Given the description of an element on the screen output the (x, y) to click on. 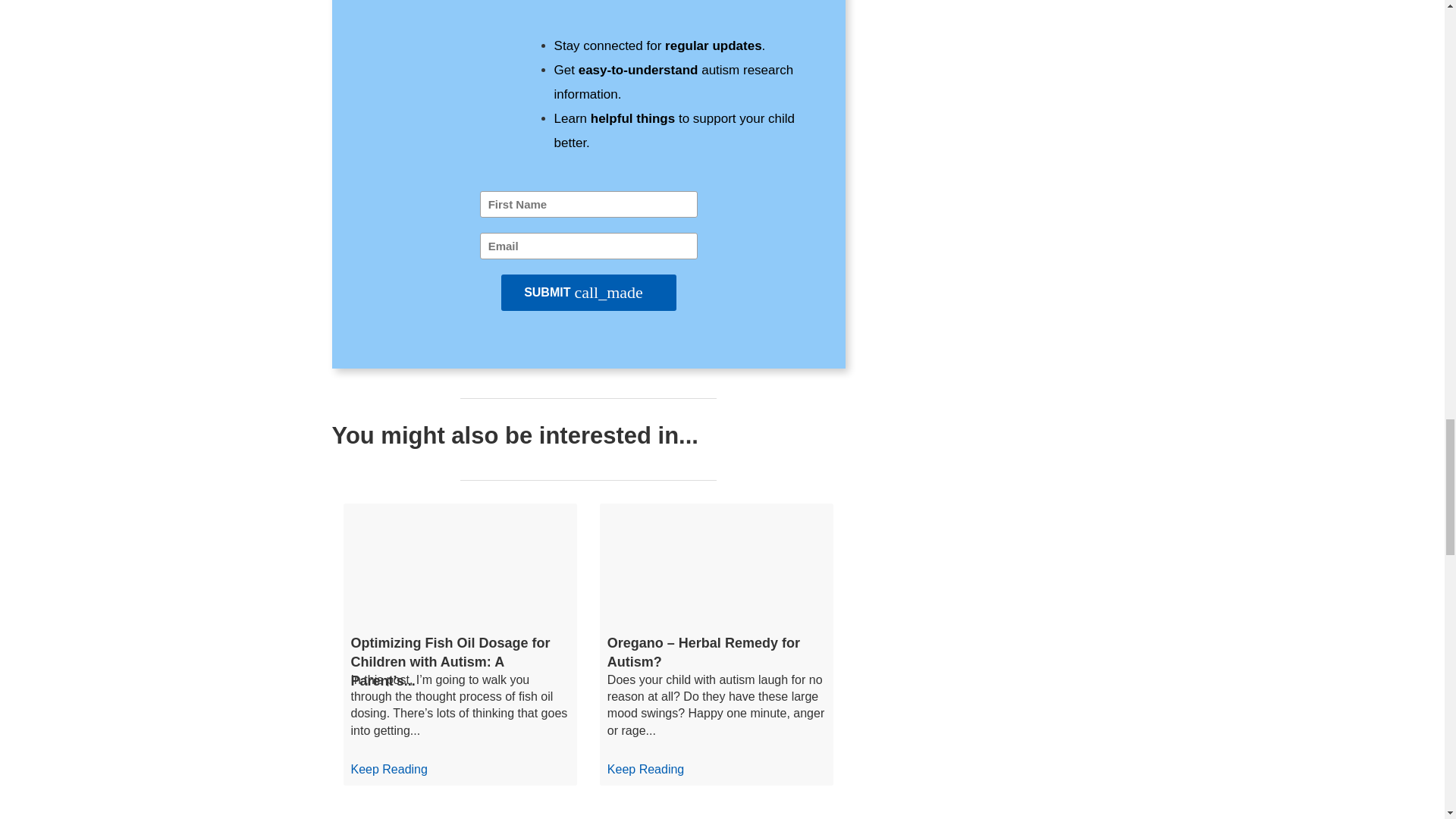
Keep Reading (388, 768)
Keep Reading (645, 768)
